Given the description of an element on the screen output the (x, y) to click on. 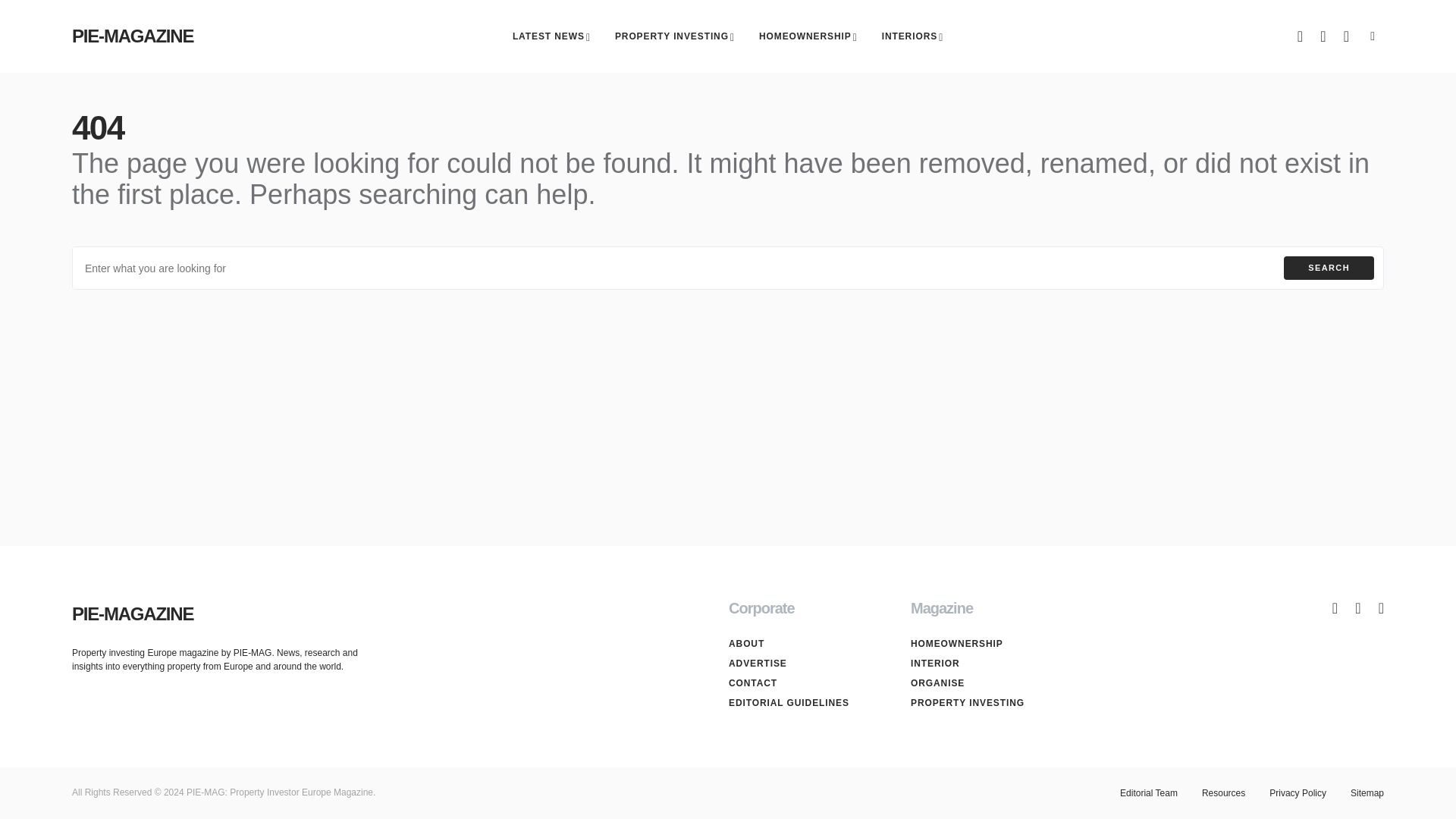
PIE-MAGAZINE (132, 614)
CONTACT (802, 683)
INTERIOR (984, 663)
ABOUT (802, 643)
EDITORIAL GUIDELINES (802, 703)
HOMEOWNERSHIP (984, 643)
LATEST NEWS (551, 36)
SEARCH (1329, 268)
ADVERTISE (802, 663)
PROPERTY INVESTING (674, 36)
